Given the description of an element on the screen output the (x, y) to click on. 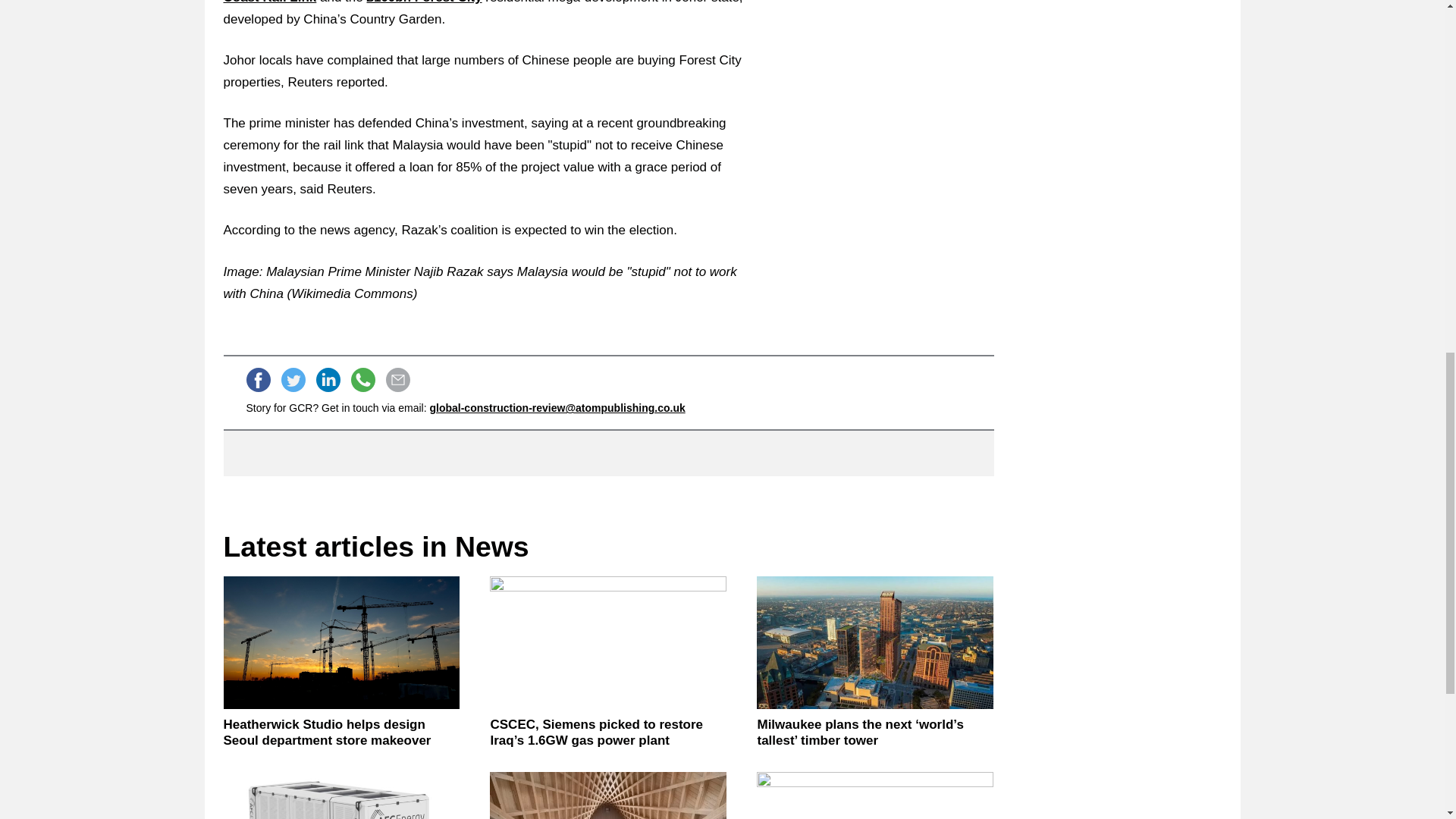
Share on WhatsApp (362, 379)
Share on Facebook (257, 379)
Send email (397, 379)
Tweet (292, 379)
Share on LinkedIn (327, 379)
